Given the description of an element on the screen output the (x, y) to click on. 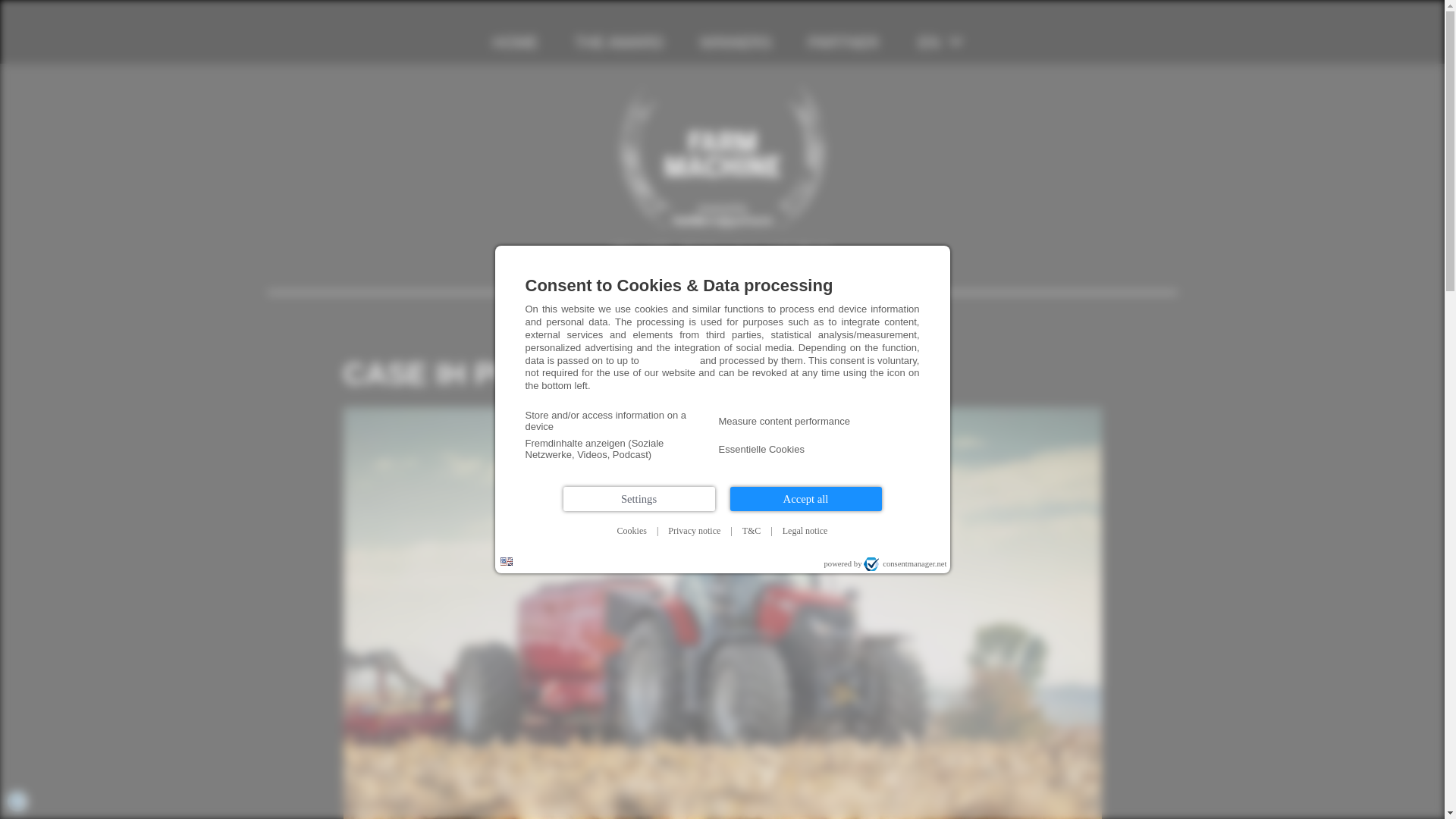
HOME (515, 42)
4 third parties (669, 360)
WINNERS (735, 42)
Legal notice (804, 530)
PARTNER (843, 42)
Privacy settings (17, 801)
Language: en (506, 561)
Language: en (506, 561)
Accept all (804, 498)
Cookies (631, 530)
Settings (638, 498)
consentmanager.net (904, 563)
Privacy notice (694, 530)
EN (928, 42)
